Given the description of an element on the screen output the (x, y) to click on. 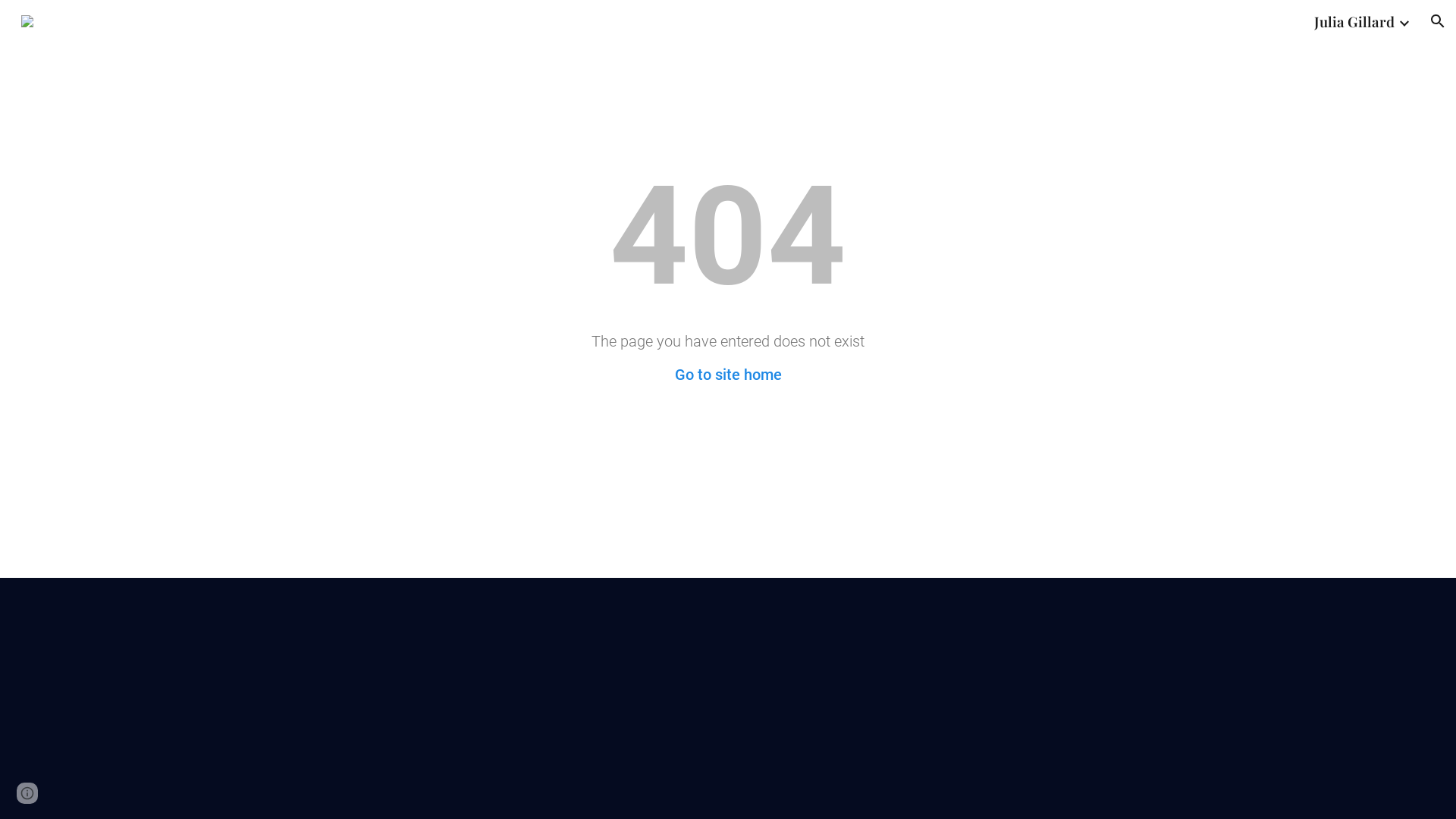
Julia Gillard Element type: text (1354, 21)
Expand/Collapse Element type: hover (1403, 21)
Go to site home Element type: text (727, 374)
